Given the description of an element on the screen output the (x, y) to click on. 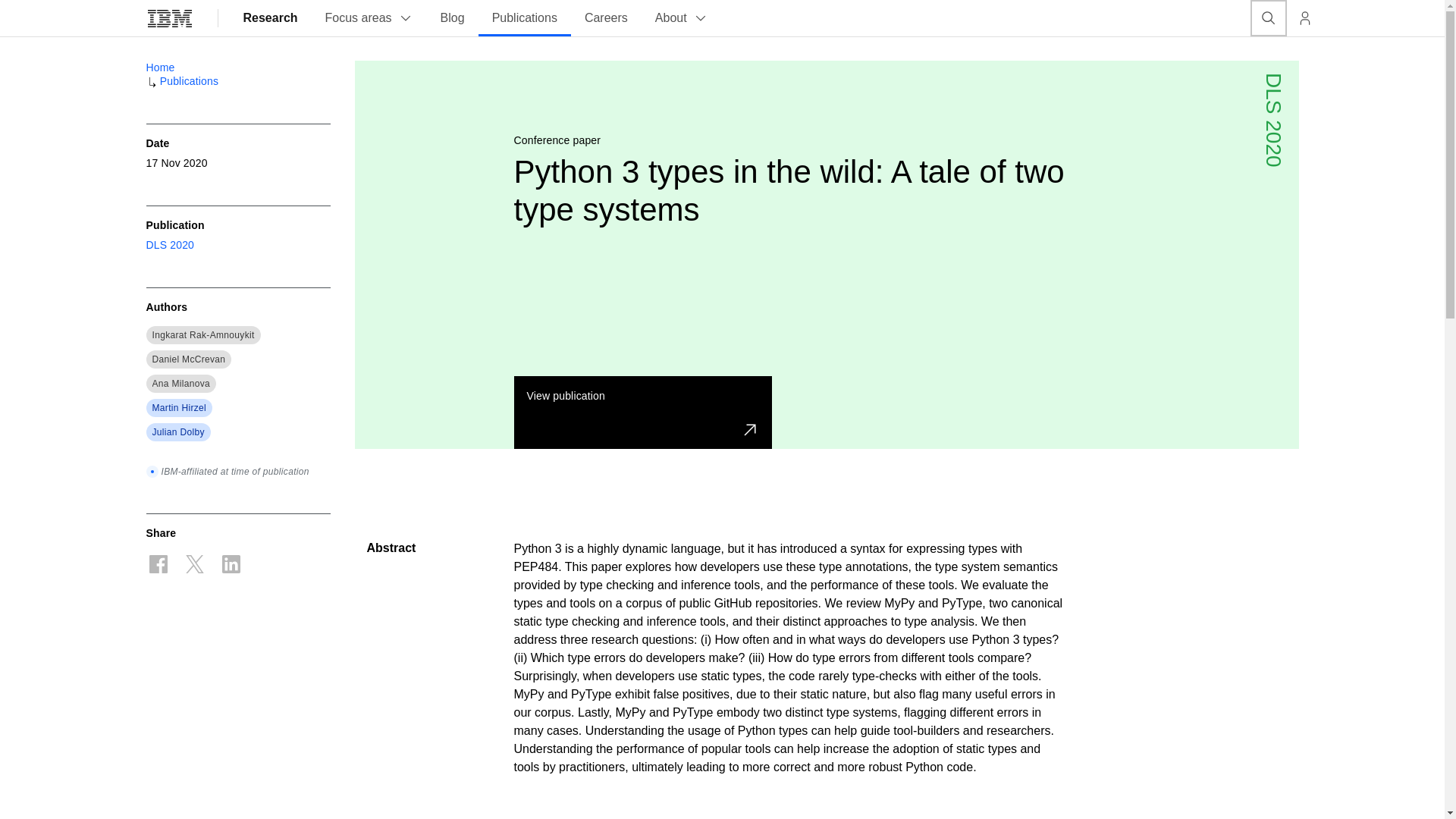
Ana Milanova (180, 383)
Daniel McCrevan (188, 358)
Julian Dolby (177, 431)
Martin Hirzel (178, 408)
Ingkarat Rak-Amnouykit (202, 335)
